Given the description of an element on the screen output the (x, y) to click on. 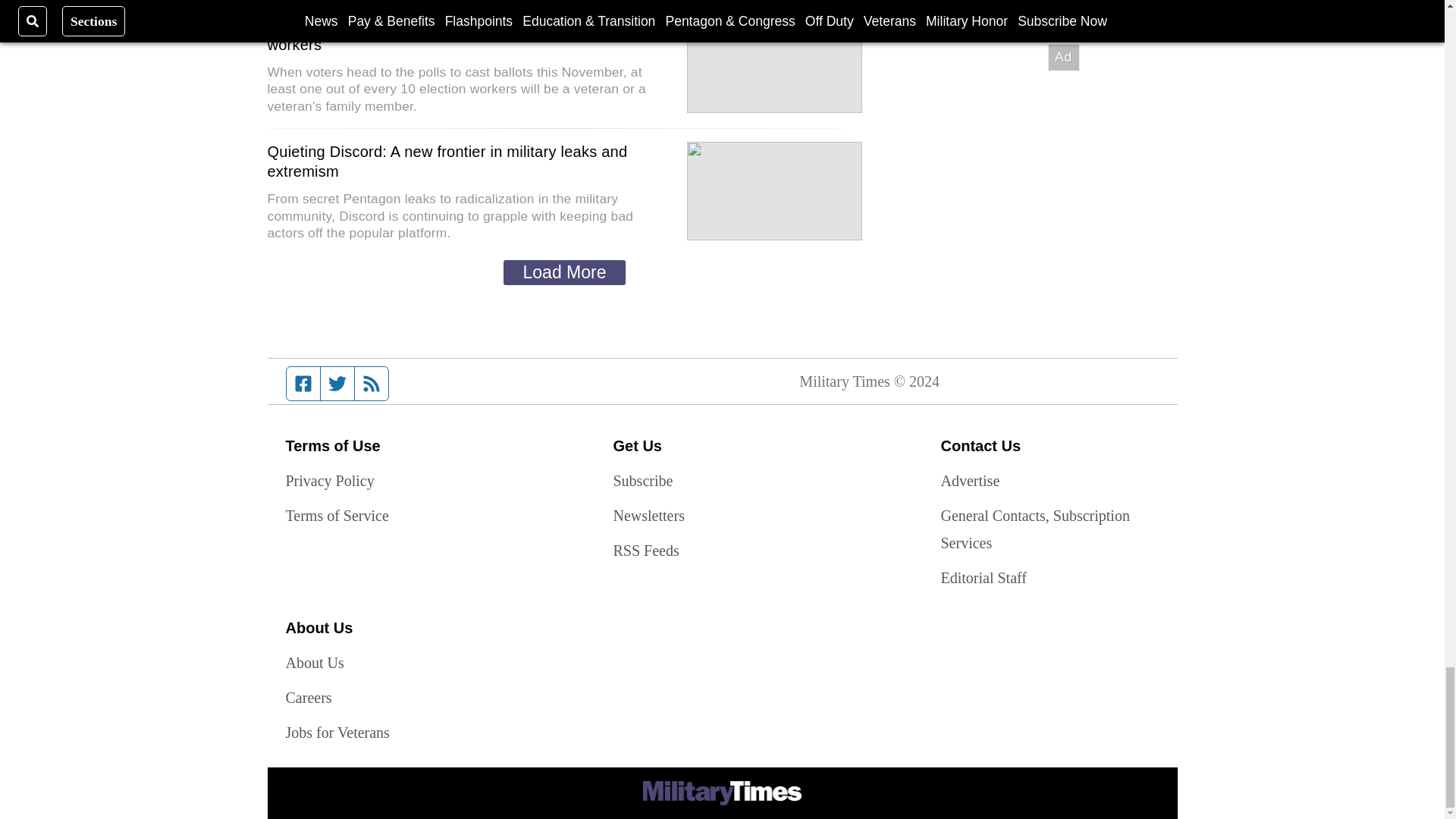
RSS feed (371, 383)
Twitter feed (336, 383)
Facebook page (303, 383)
